Given the description of an element on the screen output the (x, y) to click on. 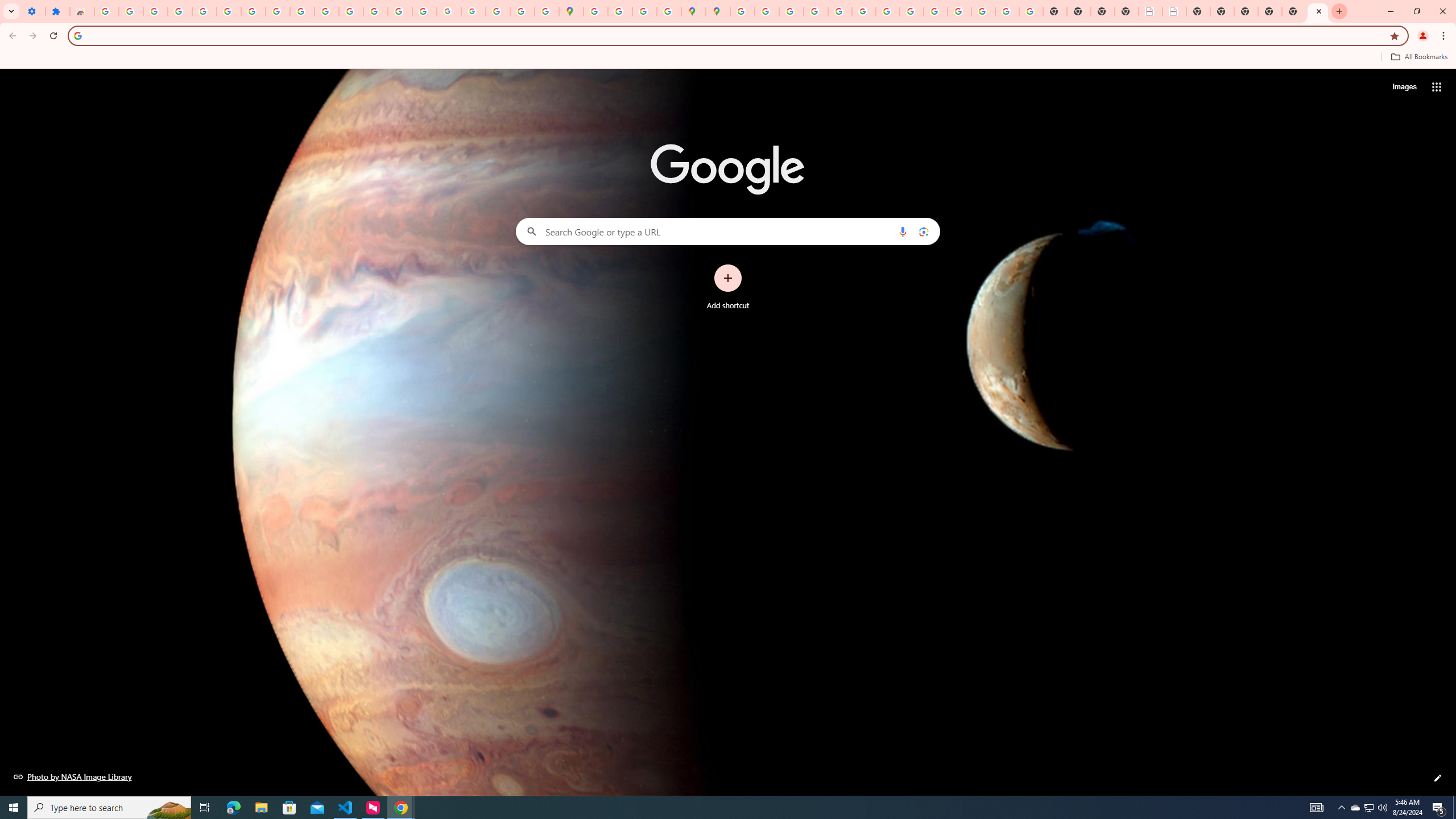
Safety in Our Products - Google Safety Center (668, 11)
YouTube (887, 11)
Reviews: Helix Fruit Jump Arcade Game (82, 11)
Privacy Help Center - Policies Help (814, 11)
